Given the description of an element on the screen output the (x, y) to click on. 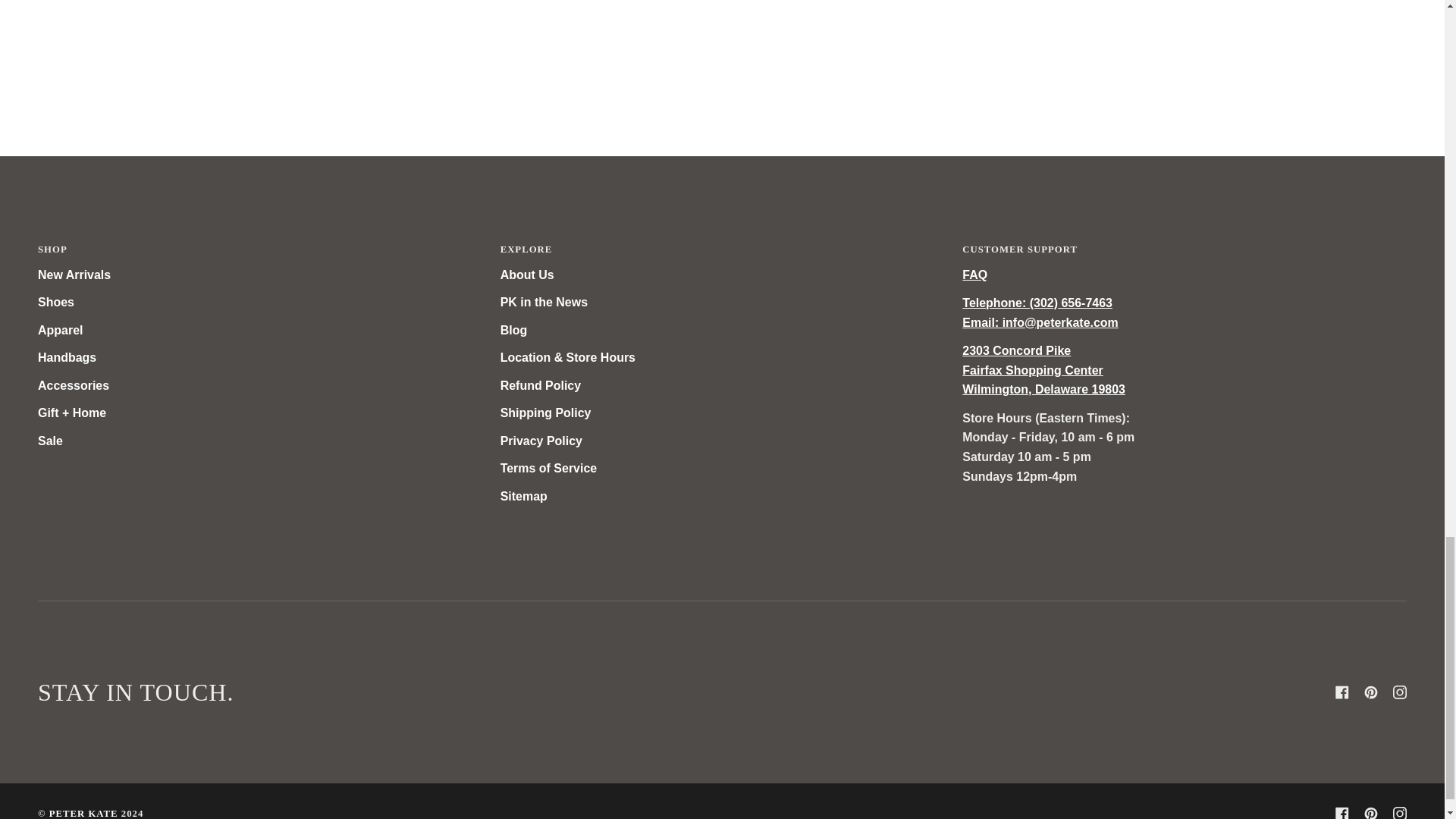
Pinterest (1370, 812)
Instagram (1399, 812)
Pinterest (1370, 692)
Facebook (1342, 692)
Instagram (1399, 692)
Facebook (1342, 812)
